Given the description of an element on the screen output the (x, y) to click on. 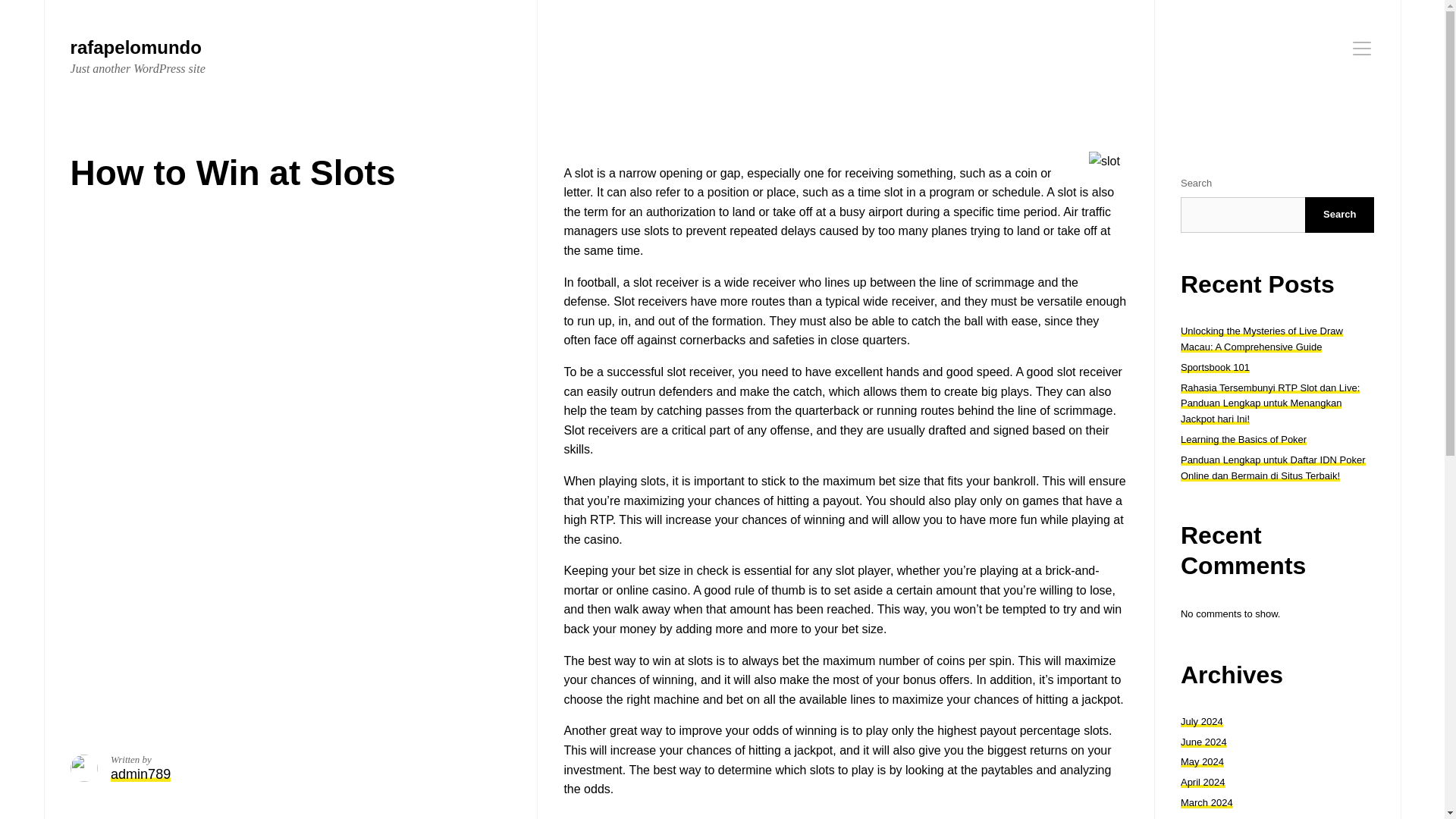
May 2024 (1202, 761)
Search (137, 57)
Menu (1339, 214)
June 2024 (1361, 48)
July 2024 (1203, 741)
February 2024 (1201, 721)
April 2024 (1212, 818)
Sportsbook 101 (1202, 781)
admin789 (1214, 367)
Learning the Basics of Poker (140, 773)
March 2024 (1243, 439)
